Given the description of an element on the screen output the (x, y) to click on. 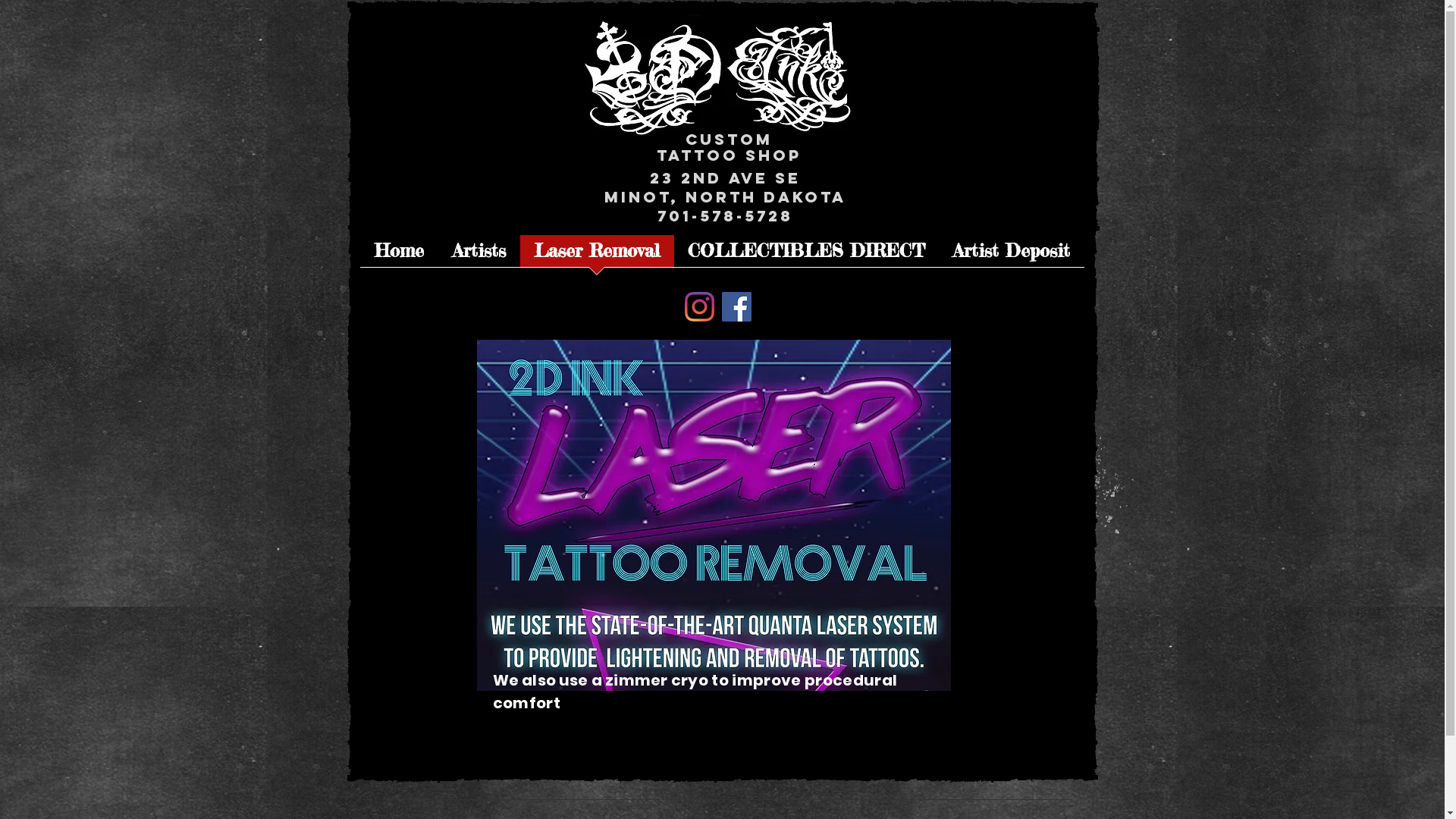
minot tattoo 2d ink 23 2nd ave se.jpg Element type: hover (717, 74)
Laser Removal Element type: text (597, 255)
Artist Deposit Element type: text (1010, 255)
Home Element type: text (398, 255)
Artists Element type: text (479, 255)
COLLECTIBLES DIRECT Element type: text (805, 255)
